Given the description of an element on the screen output the (x, y) to click on. 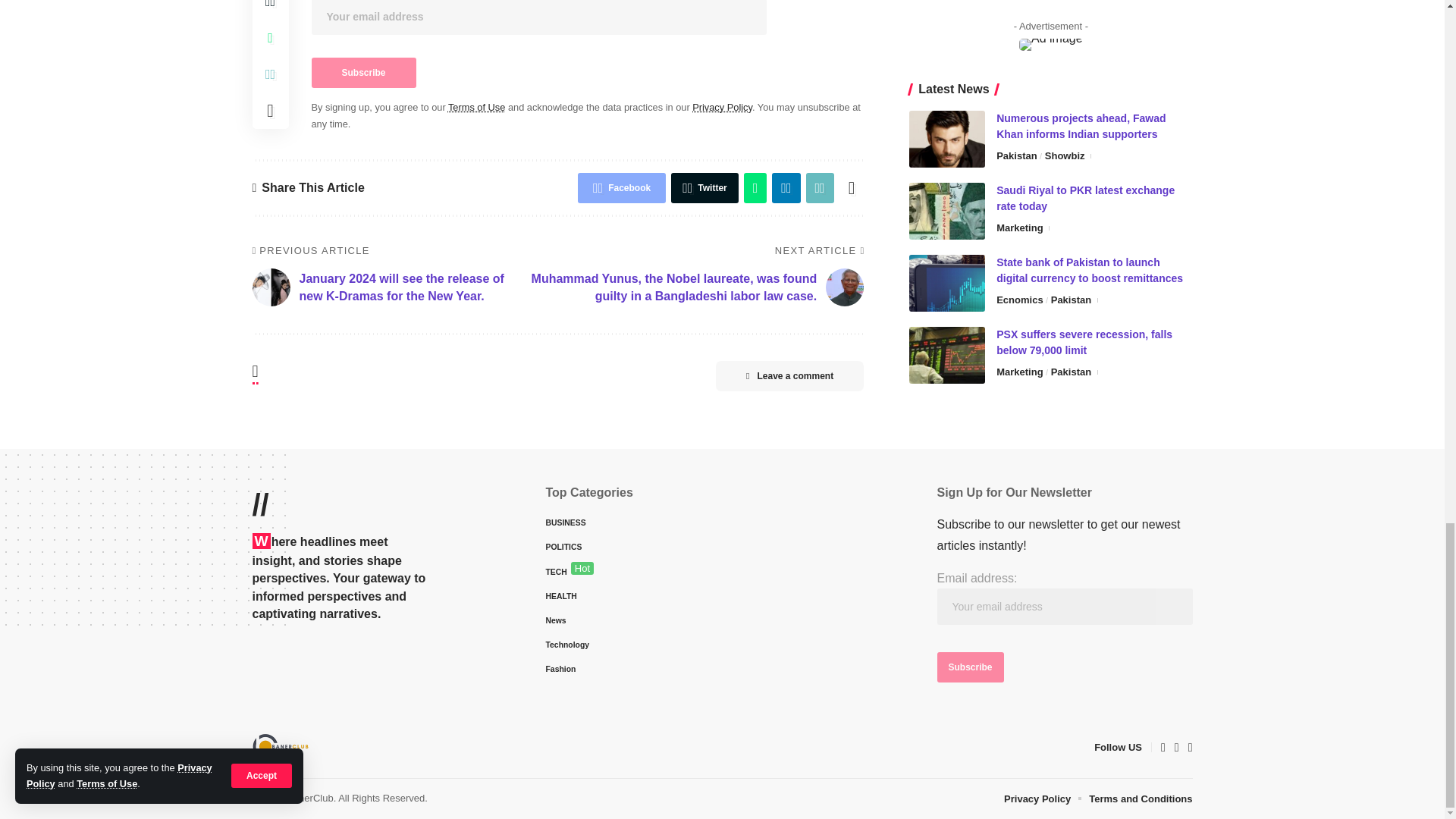
Subscribe (970, 666)
Subscribe (362, 72)
